Given the description of an element on the screen output the (x, y) to click on. 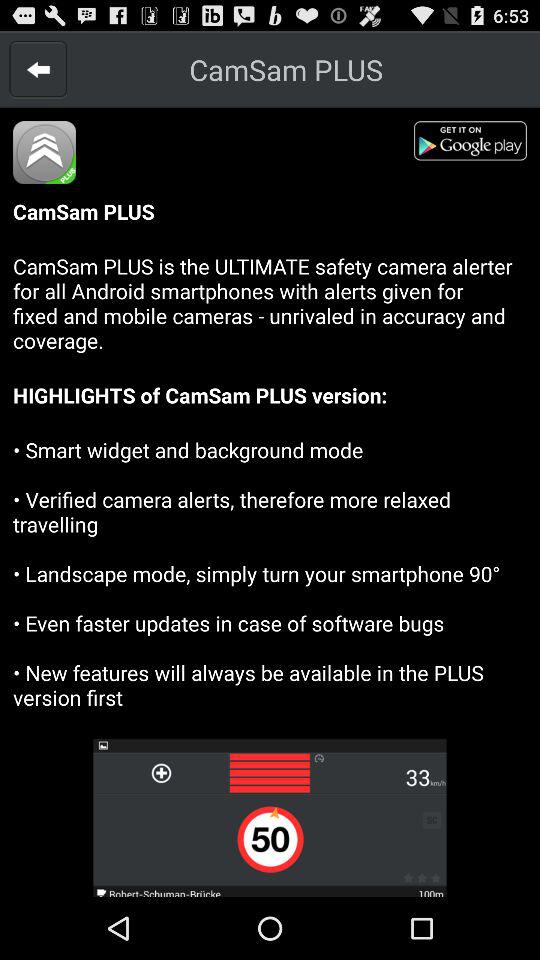
go to playstore (477, 144)
